Given the description of an element on the screen output the (x, y) to click on. 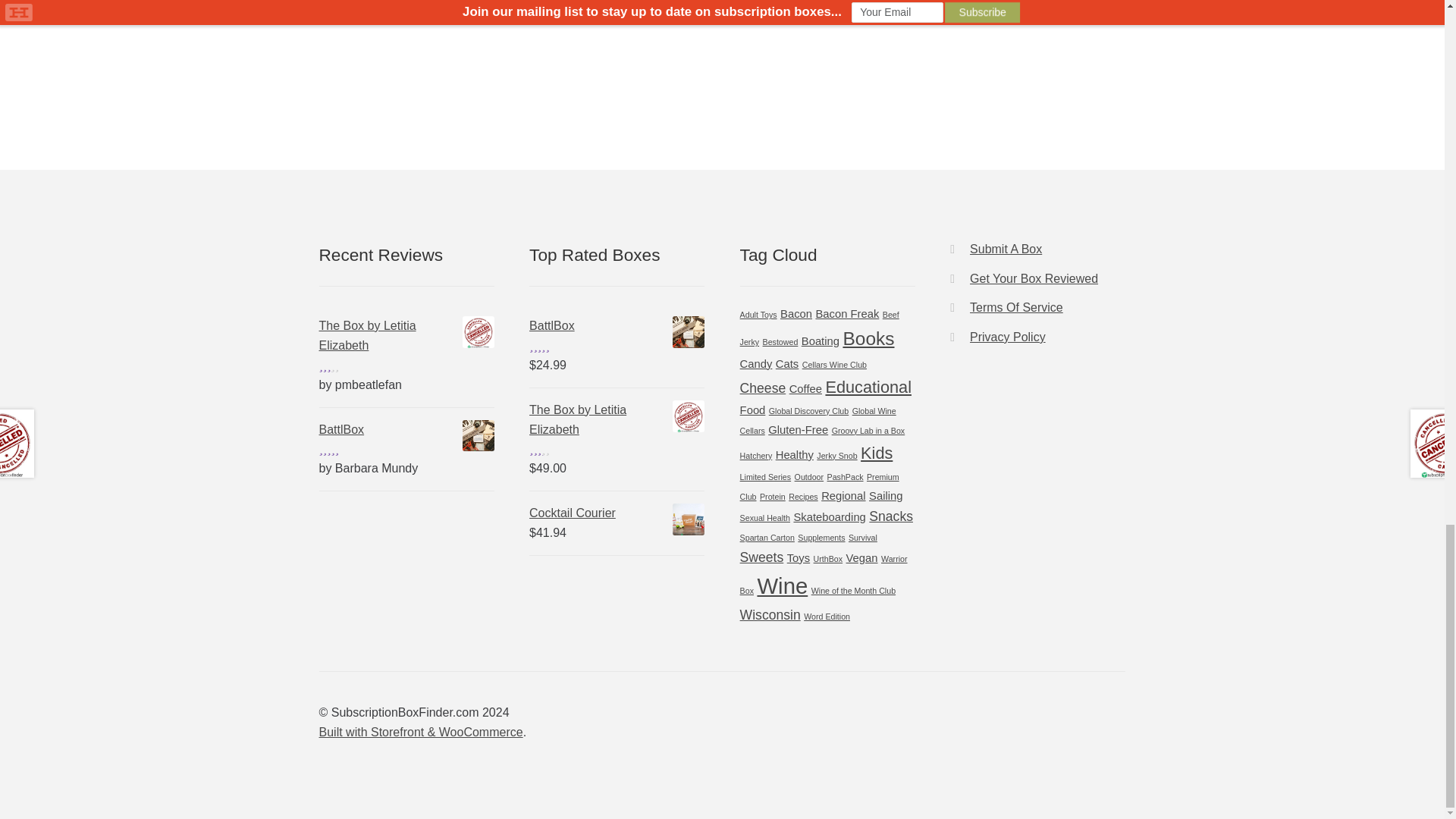
Advertisement (406, 47)
WooCommerce - The Best eCommerce Platform for WordPress (420, 731)
